Given the description of an element on the screen output the (x, y) to click on. 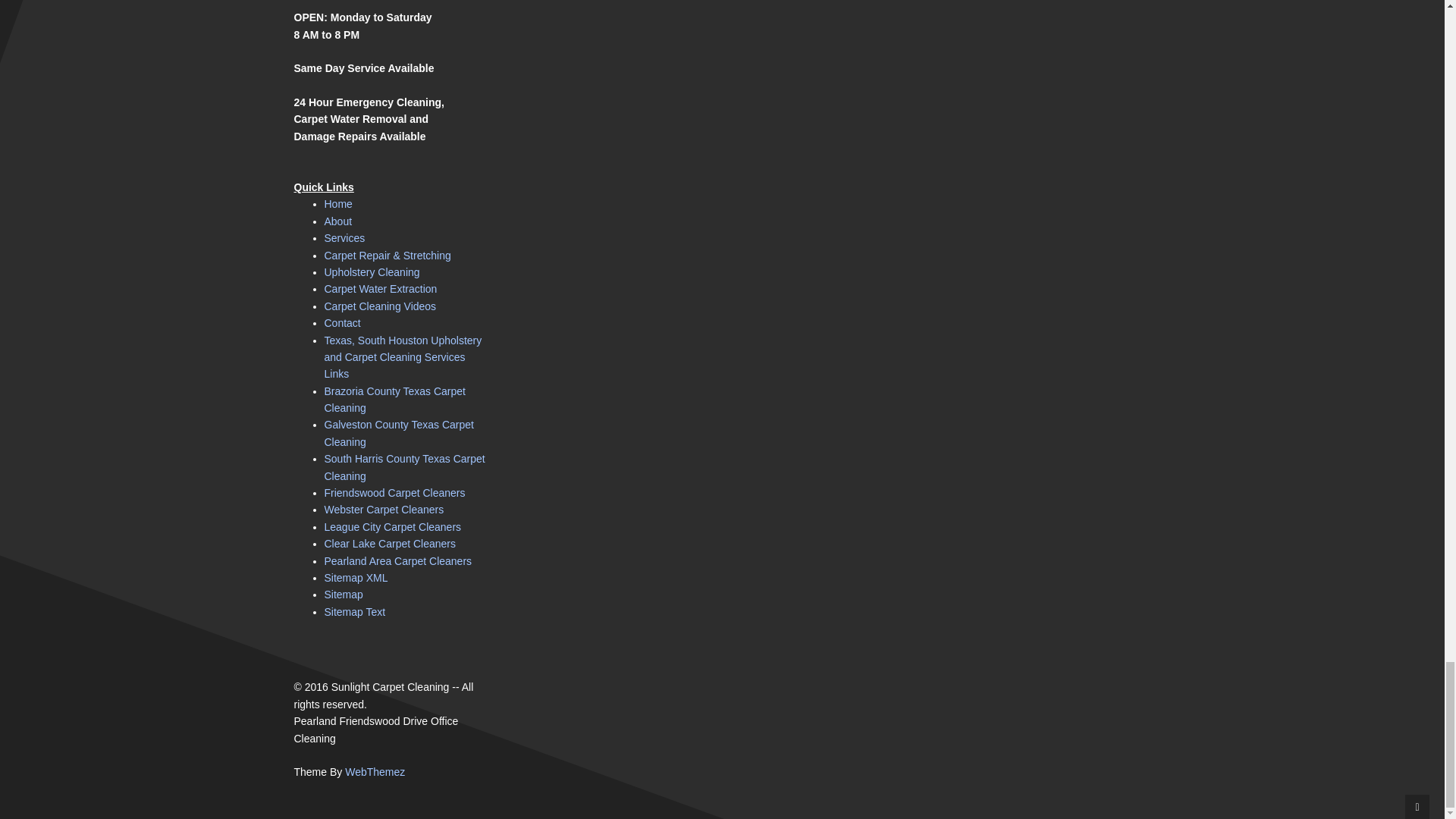
Clear Lake Carpet Cleaners (390, 543)
Carpet Cleaning Videos (380, 306)
Galveston County Texas Carpet Cleaning (399, 432)
Home (338, 203)
Brazoria County Texas Carpet Cleaning (394, 399)
Webster Carpet Cleaners (384, 509)
Contact (342, 322)
Carpet Water Extraction (381, 288)
South Harris County Texas Carpet Cleaning (404, 466)
Upholstery Cleaning (372, 272)
League City Carpet Cleaners (392, 526)
About (338, 221)
Services (344, 237)
Friendswood Carpet Cleaners (394, 492)
